Given the description of an element on the screen output the (x, y) to click on. 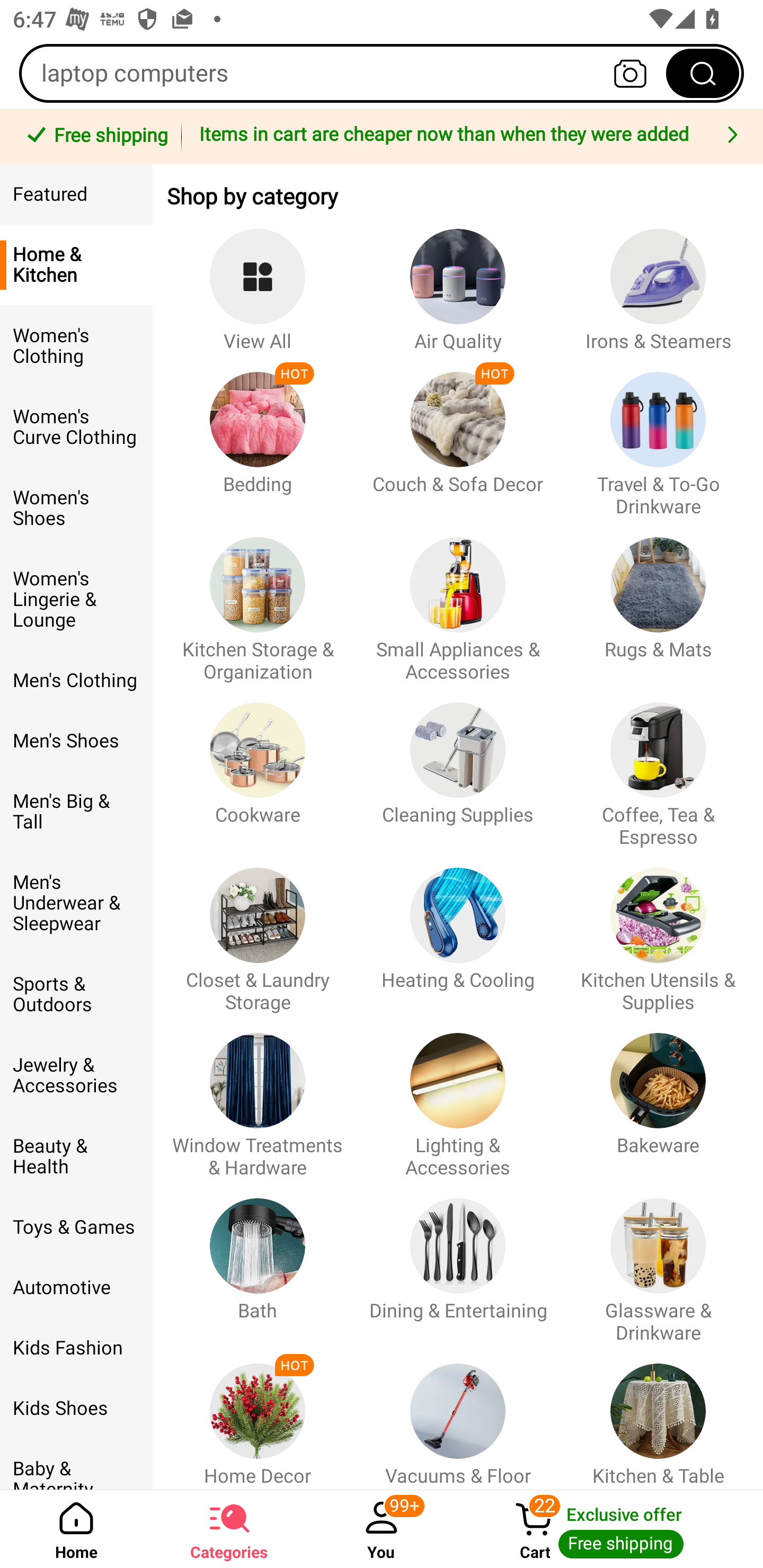
laptop computers (381, 73)
 Free shipping (93, 136)
Featured (76, 194)
View All (257, 281)
Air Quality (457, 281)
Irons & Steamers (657, 281)
Home & Kitchen (76, 264)
Women's Clothing (76, 346)
Bedding (257, 434)
Couch & Sofa Decor (457, 434)
Travel & To-Go Drinkware (657, 434)
Women's Curve Clothing (76, 427)
Women's Shoes (76, 507)
Kitchen Storage & Organization (257, 600)
Small Appliances & Accessories (457, 600)
Rugs & Mats (657, 600)
Women's Lingerie & Lounge (76, 599)
Men's Clothing (76, 680)
Cookware (257, 765)
Cleaning Supplies (457, 765)
Coffee, Tea & Espresso (657, 765)
Men's Shoes (76, 740)
Men's Big & Tall (76, 811)
Closet & Laundry Storage (257, 931)
Heating & Cooling (457, 931)
Kitchen Utensils & Supplies (657, 931)
Men's Underwear & Sleepwear (76, 902)
Sports & Outdoors (76, 993)
Window Treatments & Hardware (257, 1096)
Lighting & Accessories (457, 1096)
Bakeware (657, 1096)
Jewelry & Accessories (76, 1075)
Beauty & Health (76, 1156)
Bath (257, 1261)
Dining & Entertaining (457, 1261)
Glassware & Drinkware (657, 1261)
Toys & Games (76, 1227)
Automotive (76, 1287)
Kids Fashion (76, 1348)
Home Decor Products (257, 1416)
Vacuums & Floor Care (457, 1416)
Kitchen & Table Linens (657, 1416)
Kids Shoes (76, 1408)
Baby & Maternity (76, 1464)
Home (76, 1528)
Categories (228, 1528)
You ‎99+‎ You (381, 1528)
Cart 22 Cart Exclusive offer (610, 1528)
